Given the description of an element on the screen output the (x, y) to click on. 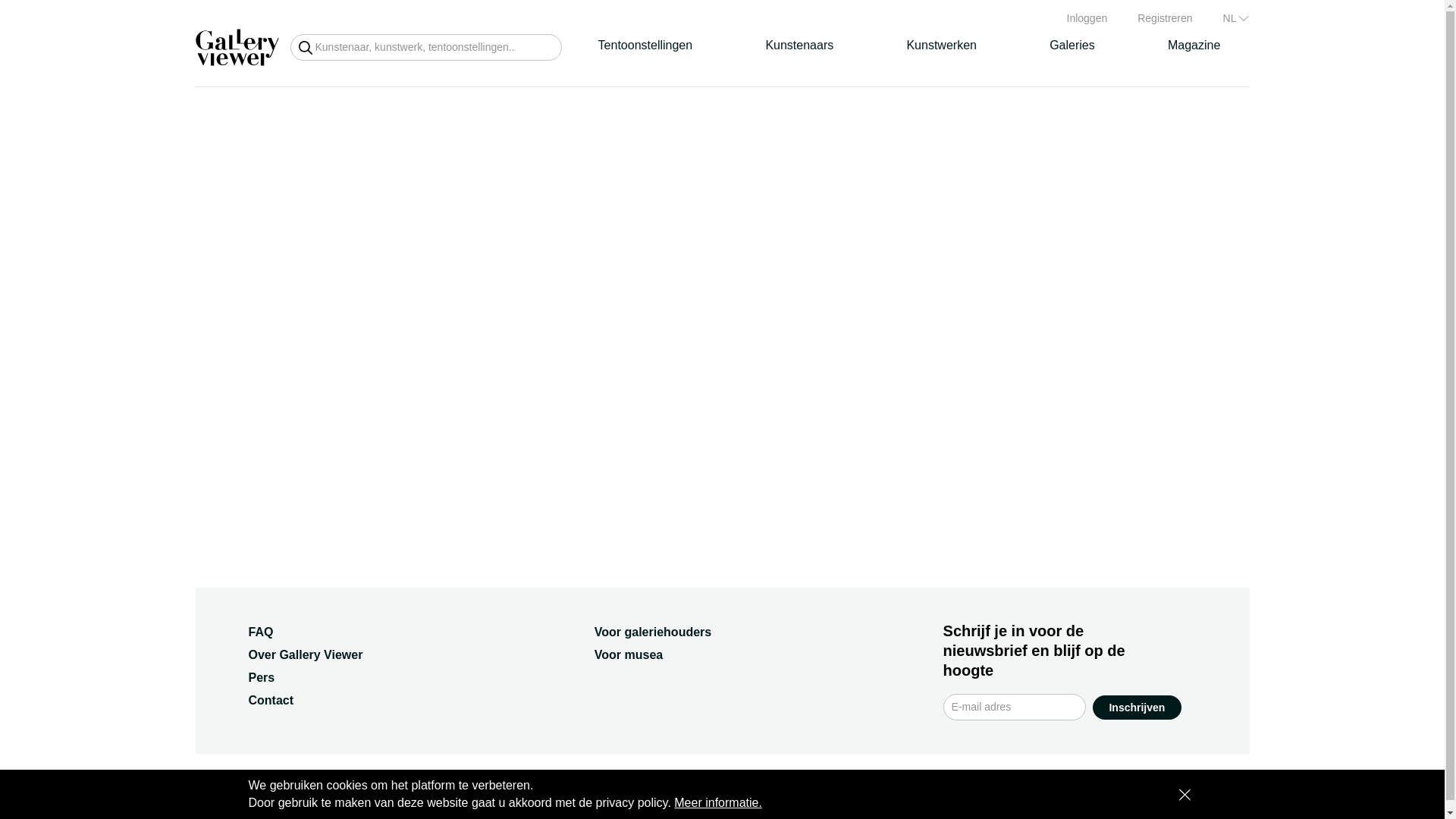
Galeries (1071, 45)
Kunstenaars (798, 45)
, Algemene voorwaarden (436, 789)
Inschrijven (1136, 706)
, Privacy (526, 789)
Tentoonstellingen (645, 45)
Voor galeriehouders (652, 631)
Contact (271, 699)
Magazine (1193, 45)
Over Gallery Viewer (305, 654)
Kunstwerken (940, 45)
Pers (261, 676)
FAQ (260, 631)
Meer informatie. (717, 802)
Voor musea (628, 654)
